Given the description of an element on the screen output the (x, y) to click on. 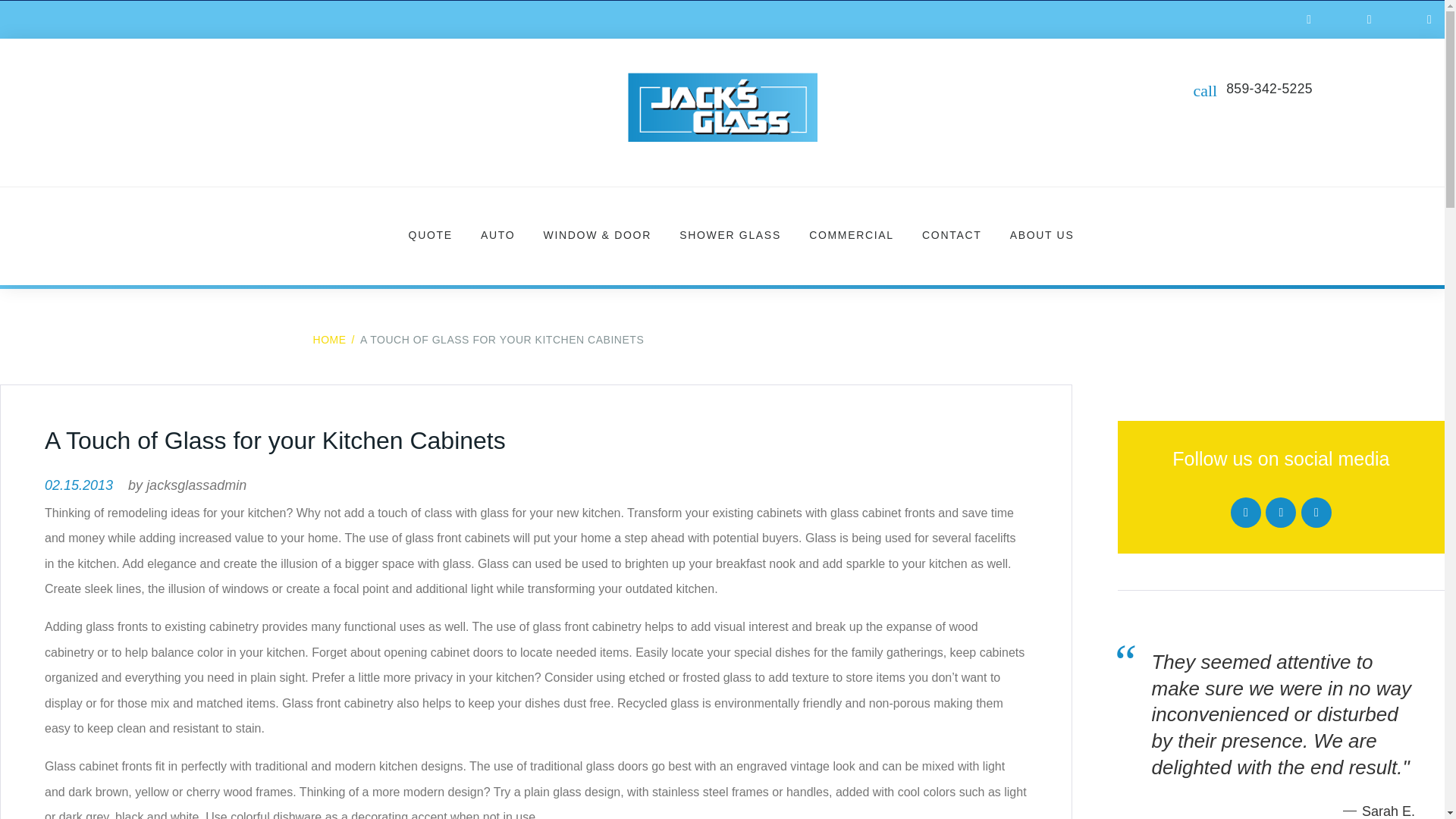
YouTube (1369, 19)
Facebook (1308, 19)
Facebook (1245, 512)
SHOWER GLASS (729, 235)
02.15.2013 (79, 485)
859-342-5225 (1269, 88)
Home (329, 339)
YouTube (1280, 512)
2013-02-15T11:40:07-05:00 (79, 485)
ABOUT US (1041, 235)
